Given the description of an element on the screen output the (x, y) to click on. 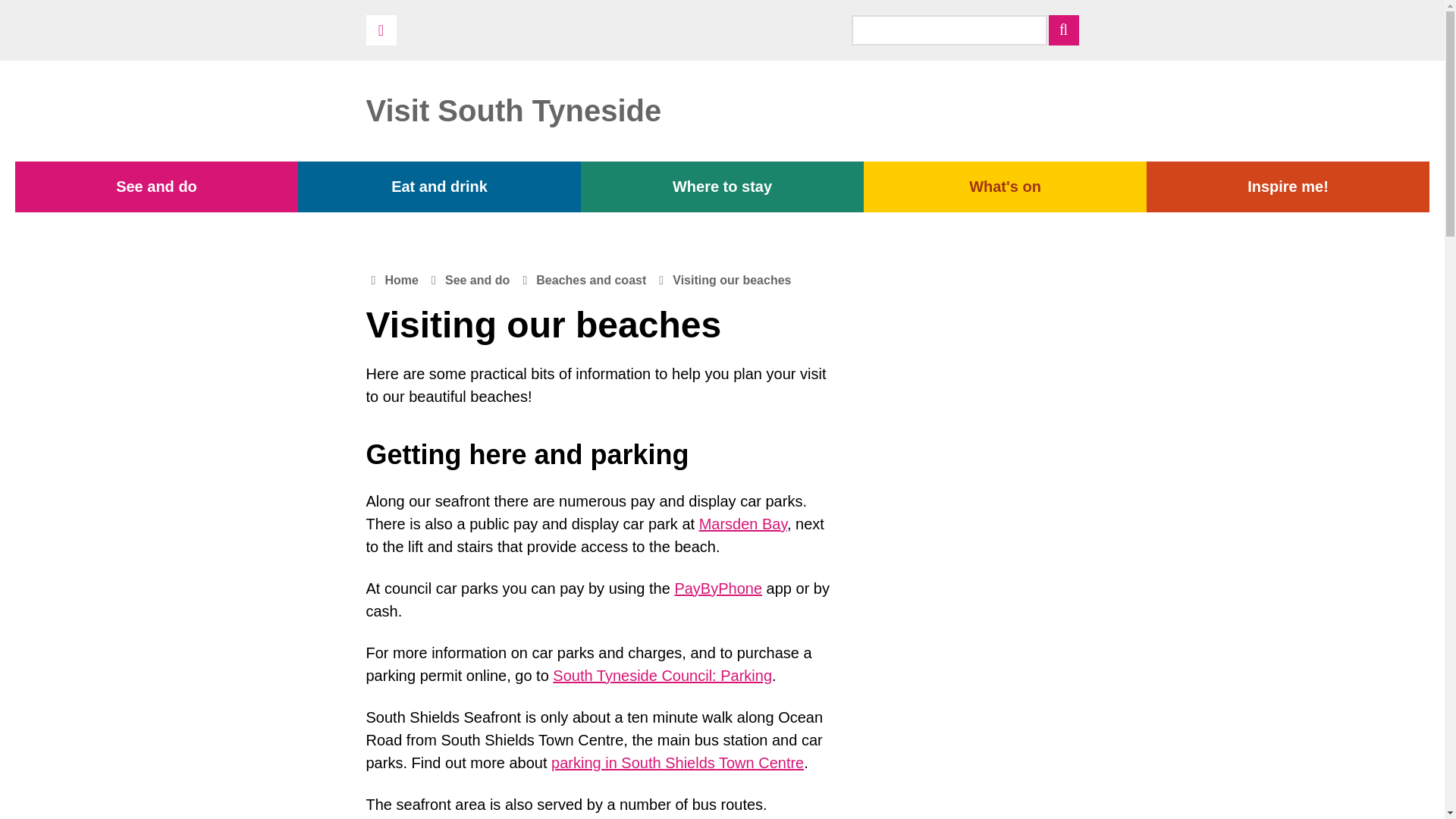
Search this website (1063, 30)
See and do (477, 280)
Marsden Bay (742, 523)
Visiting our beaches (731, 280)
Eat and drink (439, 186)
Home (402, 280)
PayByPhone (717, 588)
Where to stay (721, 186)
See and do (156, 186)
Inspire me! (1288, 186)
